Given the description of an element on the screen output the (x, y) to click on. 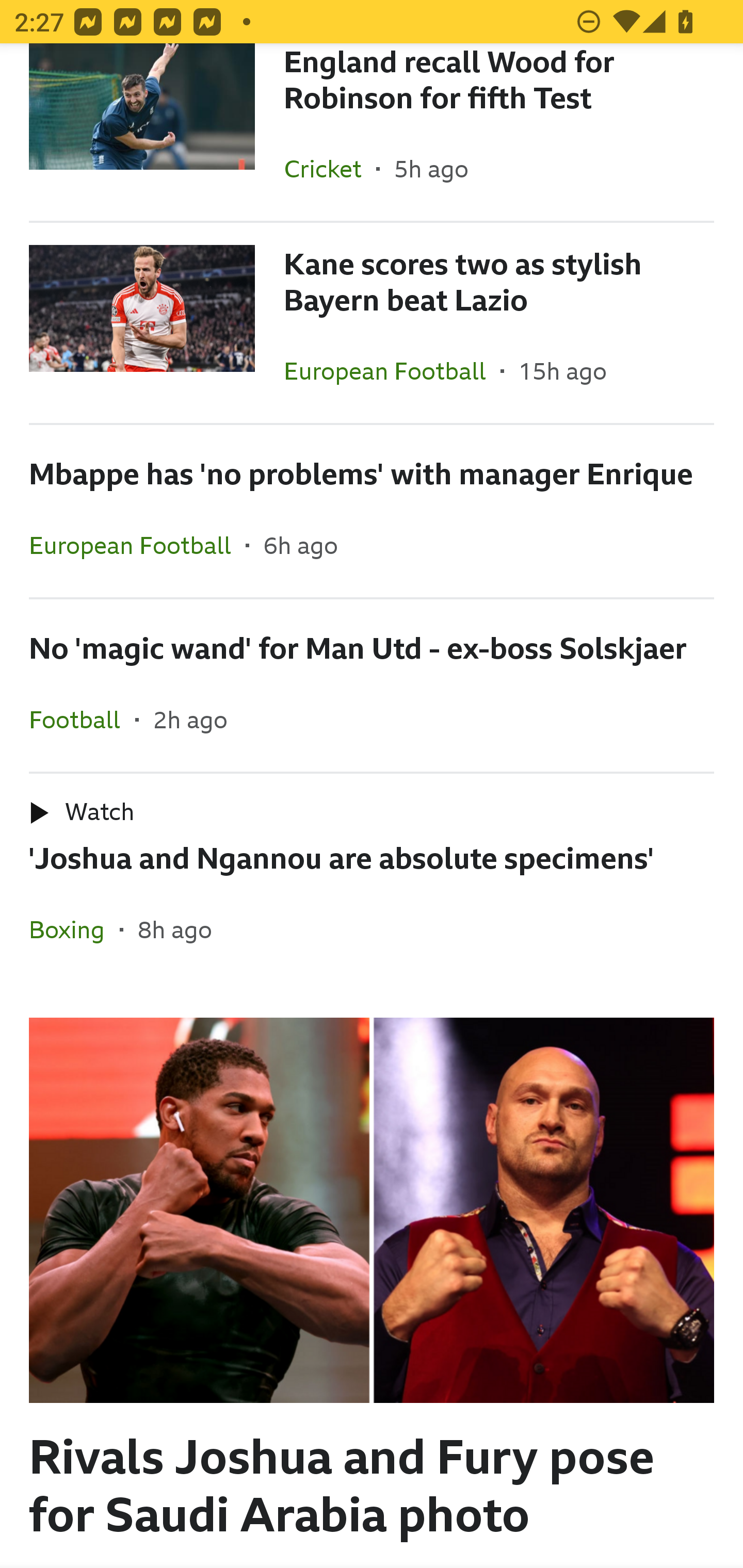
Cricket In the section Cricket (329, 168)
European Football In the section European Football (391, 370)
European Football In the section European Football (136, 544)
Football In the section Football (81, 719)
Boxing In the section Boxing (73, 929)
